Given the description of an element on the screen output the (x, y) to click on. 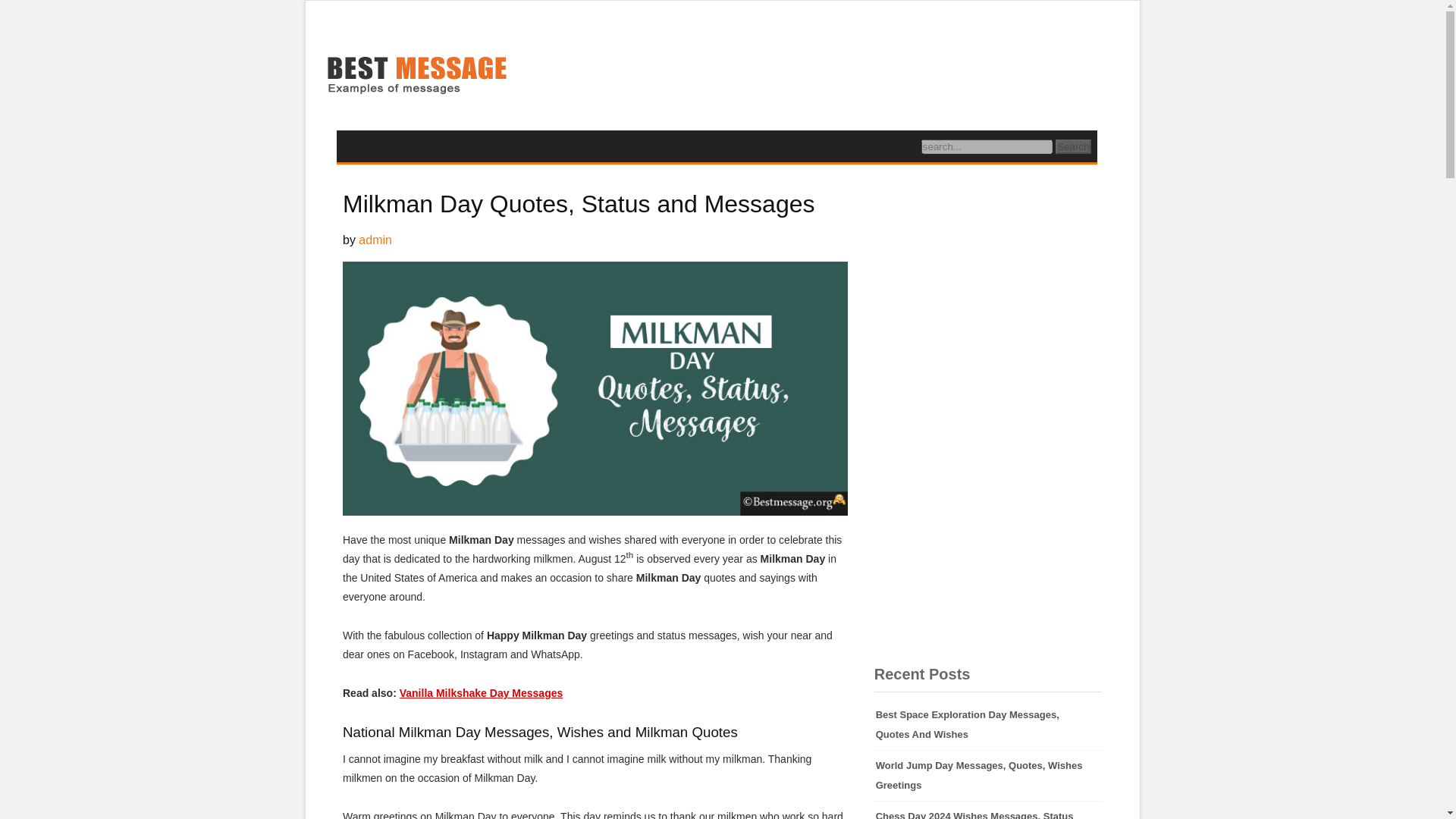
Search (1072, 146)
Chess Day 2024 Wishes Messages, Status And Quotes (988, 810)
Best Space Exploration Day Messages, Quotes And Wishes (988, 725)
Search (1072, 146)
Best Message (415, 76)
admin (374, 239)
World Jump Day Messages, Quotes, Wishes Greetings (988, 775)
Vanilla Milkshake Day Messages (480, 693)
